Given the description of an element on the screen output the (x, y) to click on. 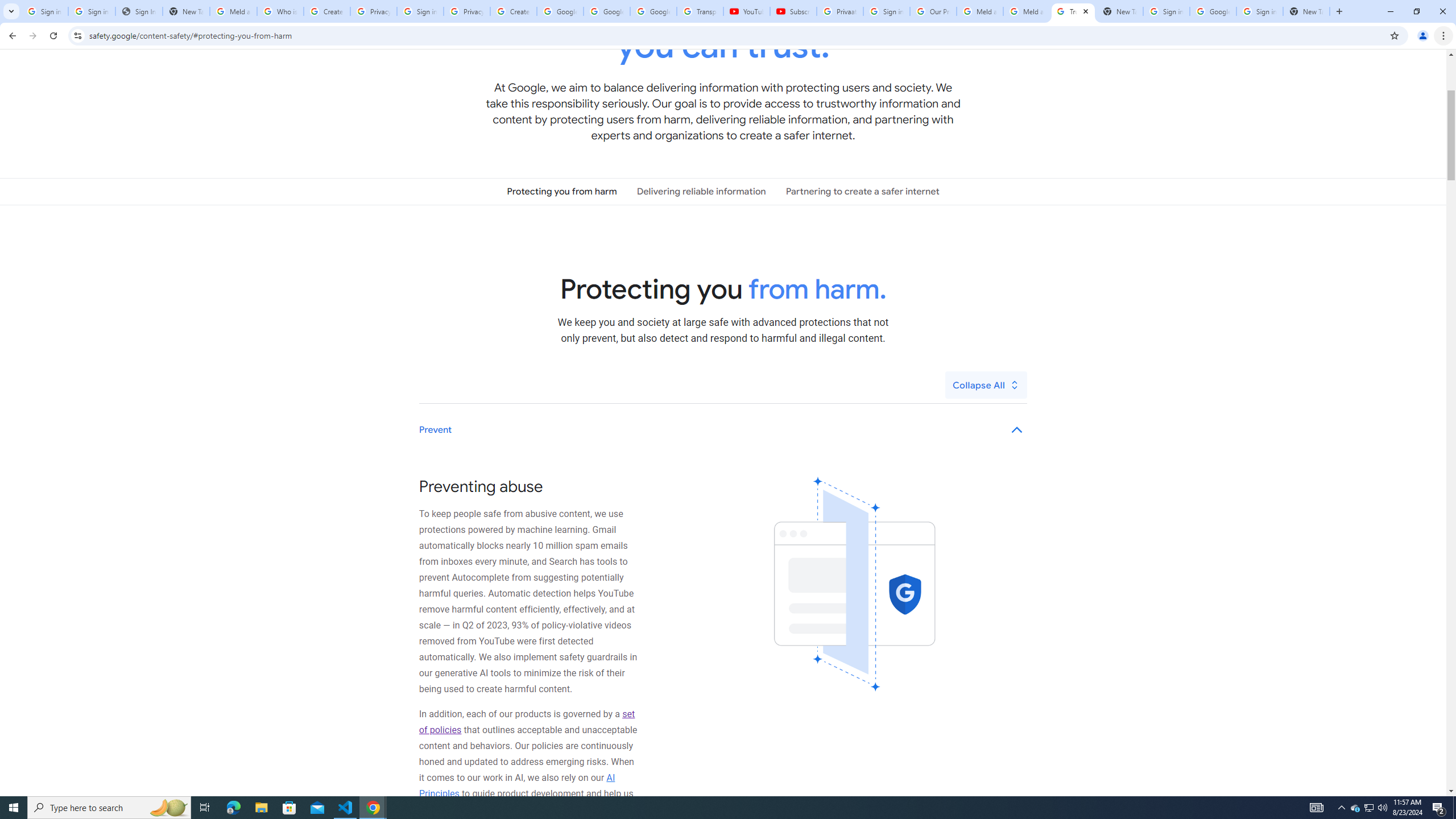
Sign in - Google Accounts (1259, 11)
Google Account (652, 11)
AI Principles (517, 785)
Protecting you from harm (561, 191)
set of policies (526, 721)
Sign in - Google Accounts (91, 11)
